Given the description of an element on the screen output the (x, y) to click on. 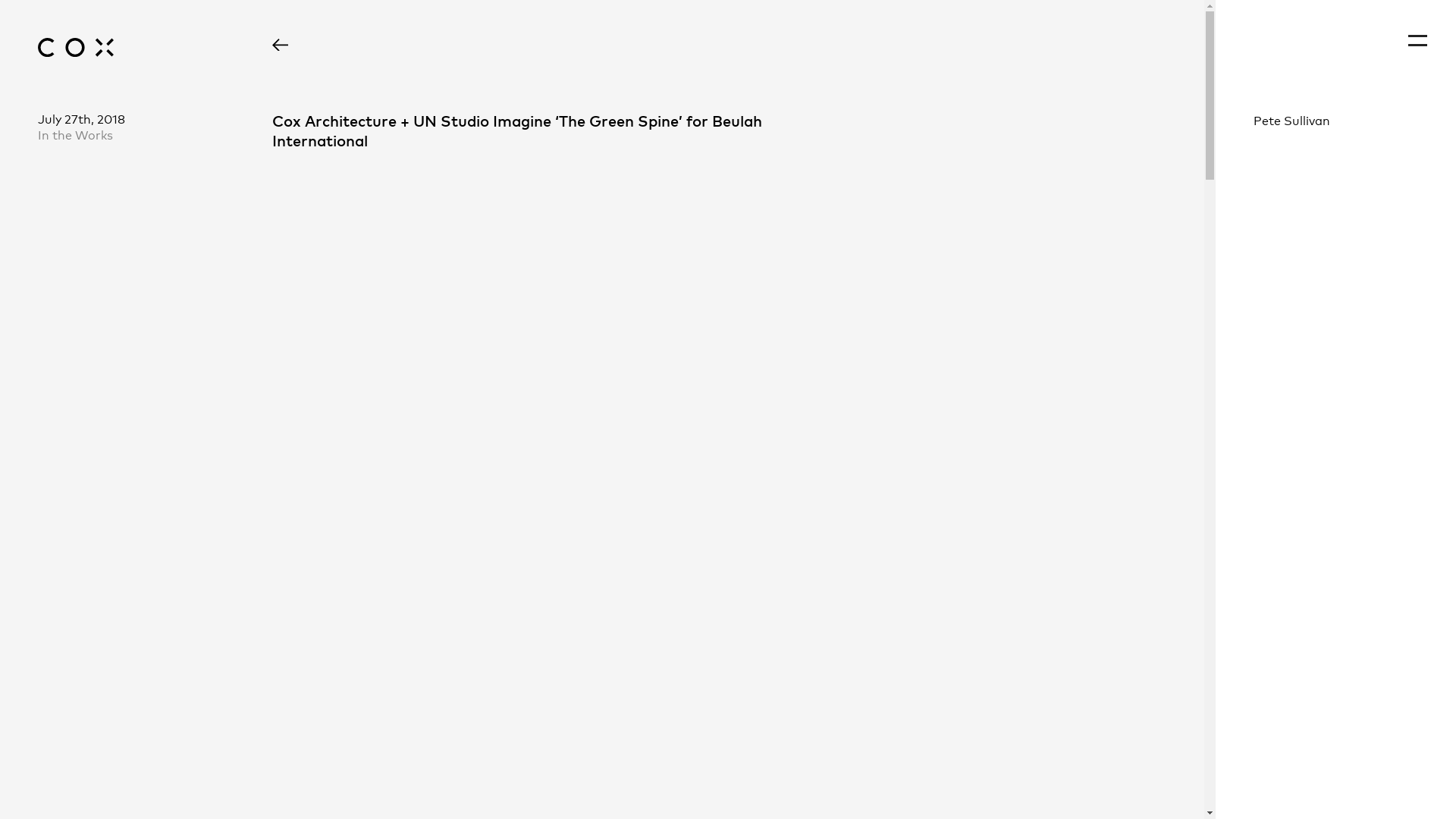
Pete Sullivan Element type: text (1335, 119)
